Given the description of an element on the screen output the (x, y) to click on. 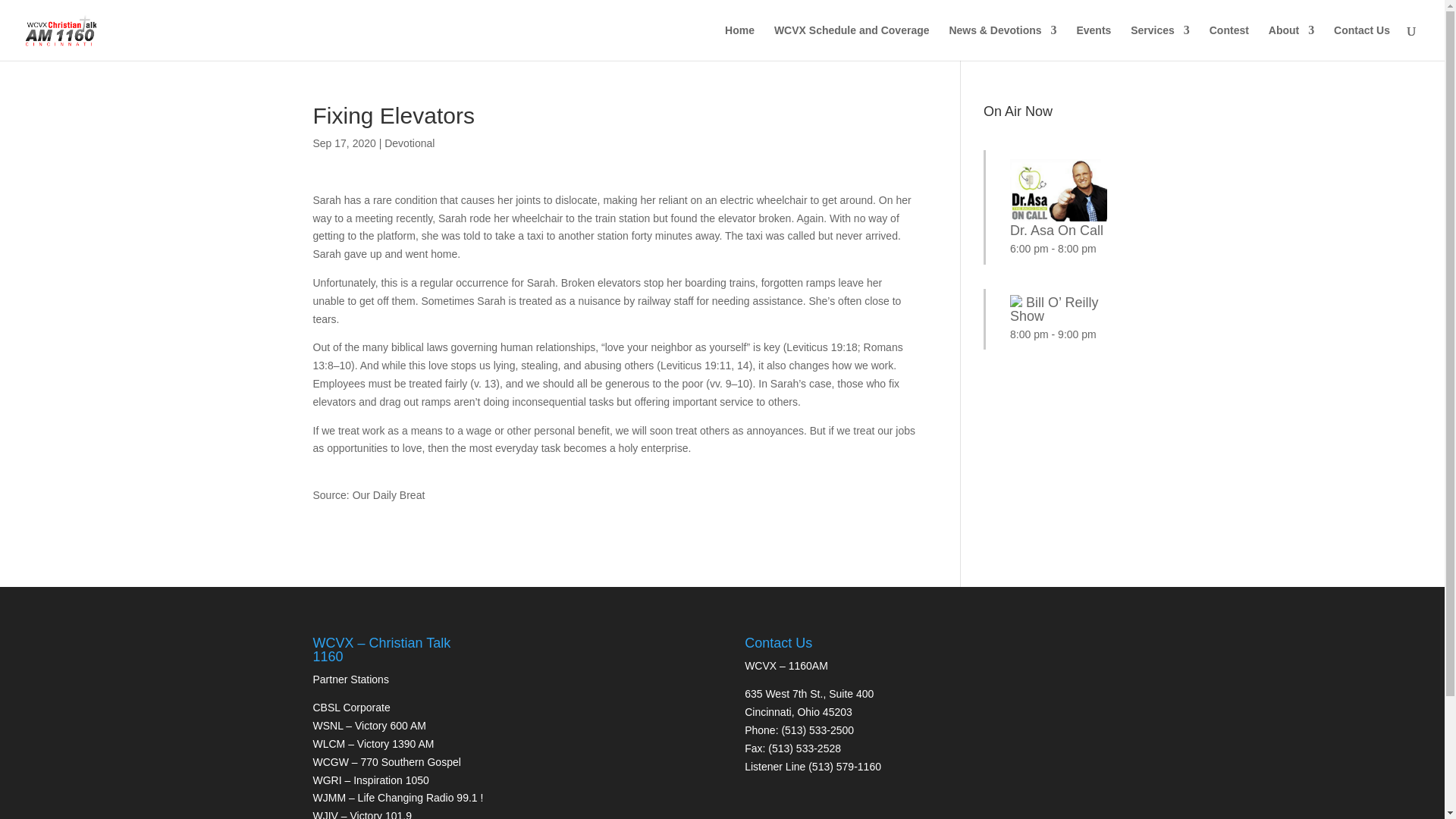
Dr. Asa On Call (1058, 223)
CBSL Corporate (351, 707)
WCVX Schedule and Coverage (852, 42)
Contact Us (1361, 42)
Events (1092, 42)
Contest (1229, 42)
Services (1160, 42)
Devotional (408, 143)
Home (739, 42)
About (1291, 42)
Dr. Asa On Call (1058, 223)
